Given the description of an element on the screen output the (x, y) to click on. 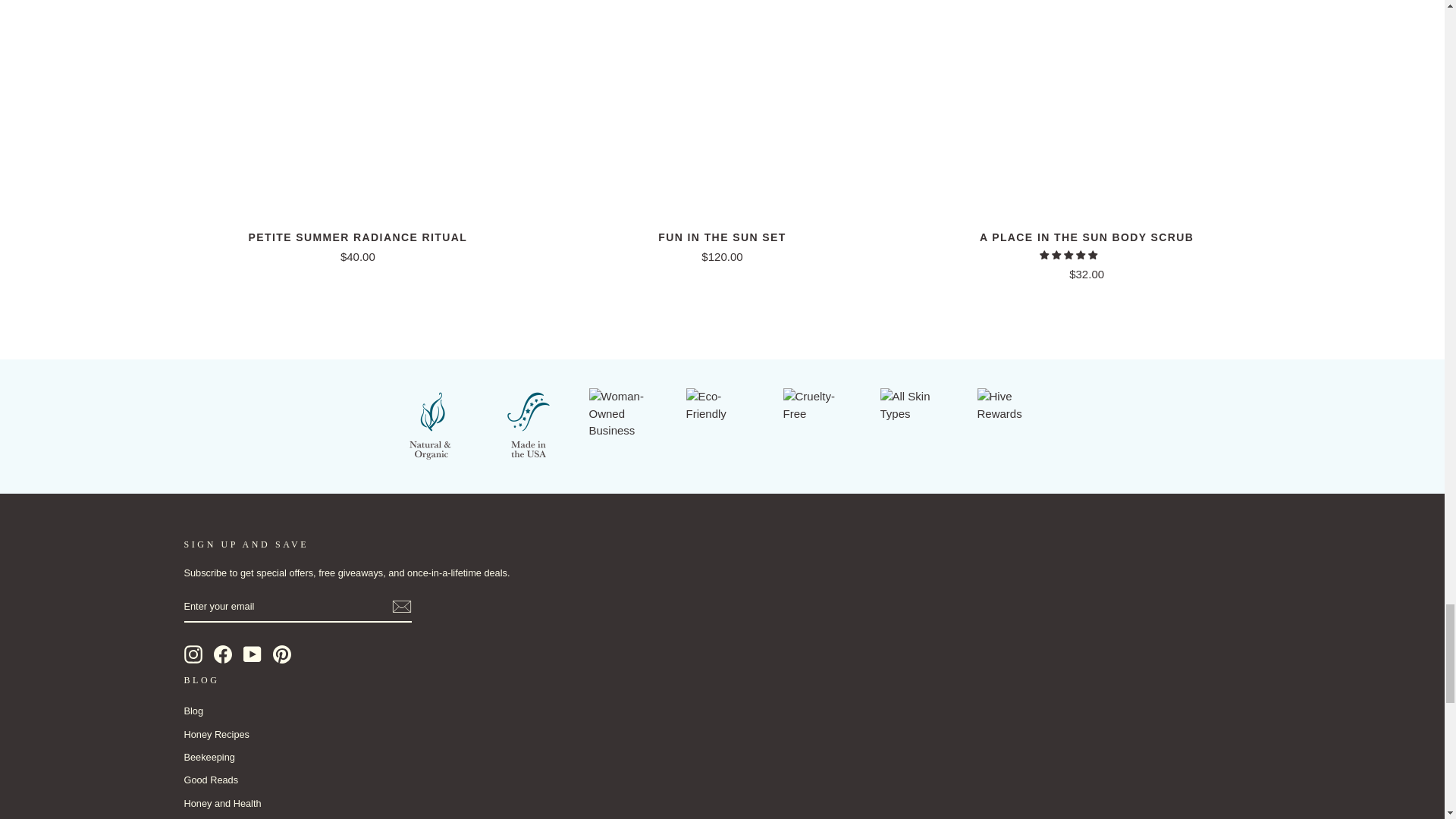
Bee Inspired on Instagram (192, 654)
Bee Inspired on Facebook (222, 654)
Bee Inspired on Pinterest (282, 654)
Bee Inspired on YouTube (251, 654)
